Given the description of an element on the screen output the (x, y) to click on. 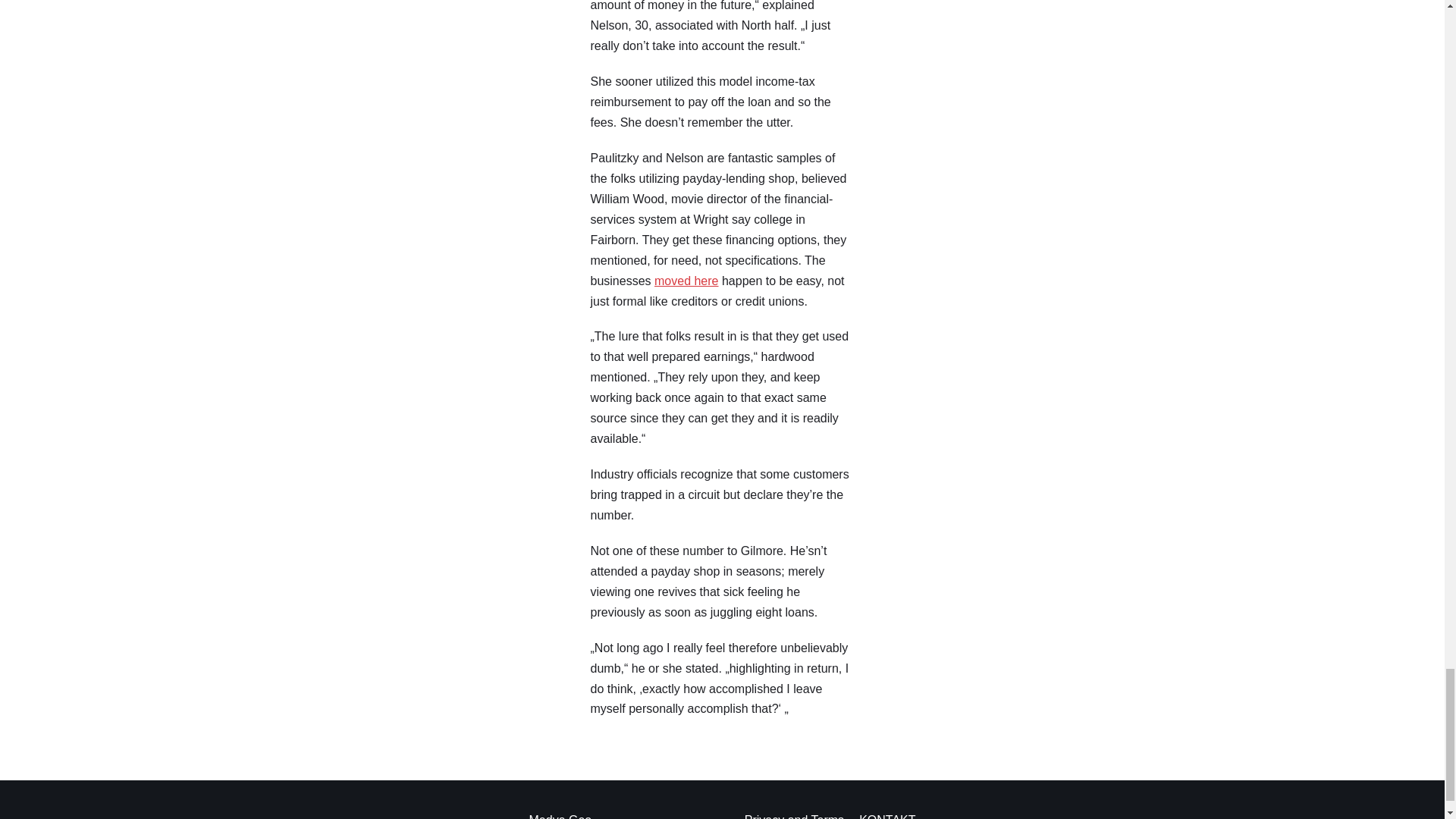
Privacy and Terms (794, 814)
KONTAKT (887, 814)
moved here (686, 280)
